Given the description of an element on the screen output the (x, y) to click on. 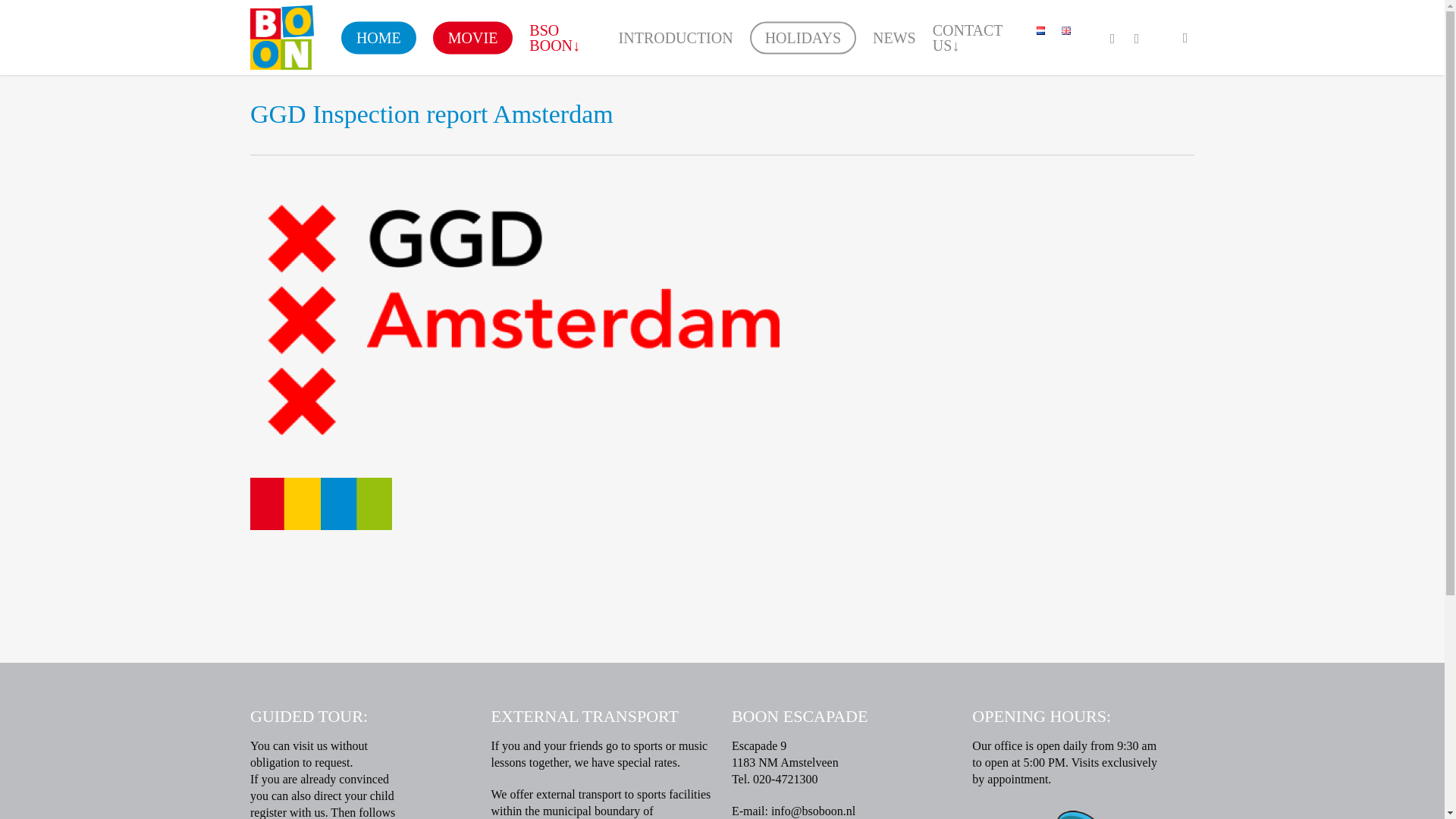
NEWS (894, 37)
FACEBOOK (1112, 36)
INSTAGRAM (1136, 36)
HOME (378, 37)
MOVIE (472, 37)
HOLIDAYS (802, 37)
INTRODUCTION (675, 37)
search (1184, 37)
